Given the description of an element on the screen output the (x, y) to click on. 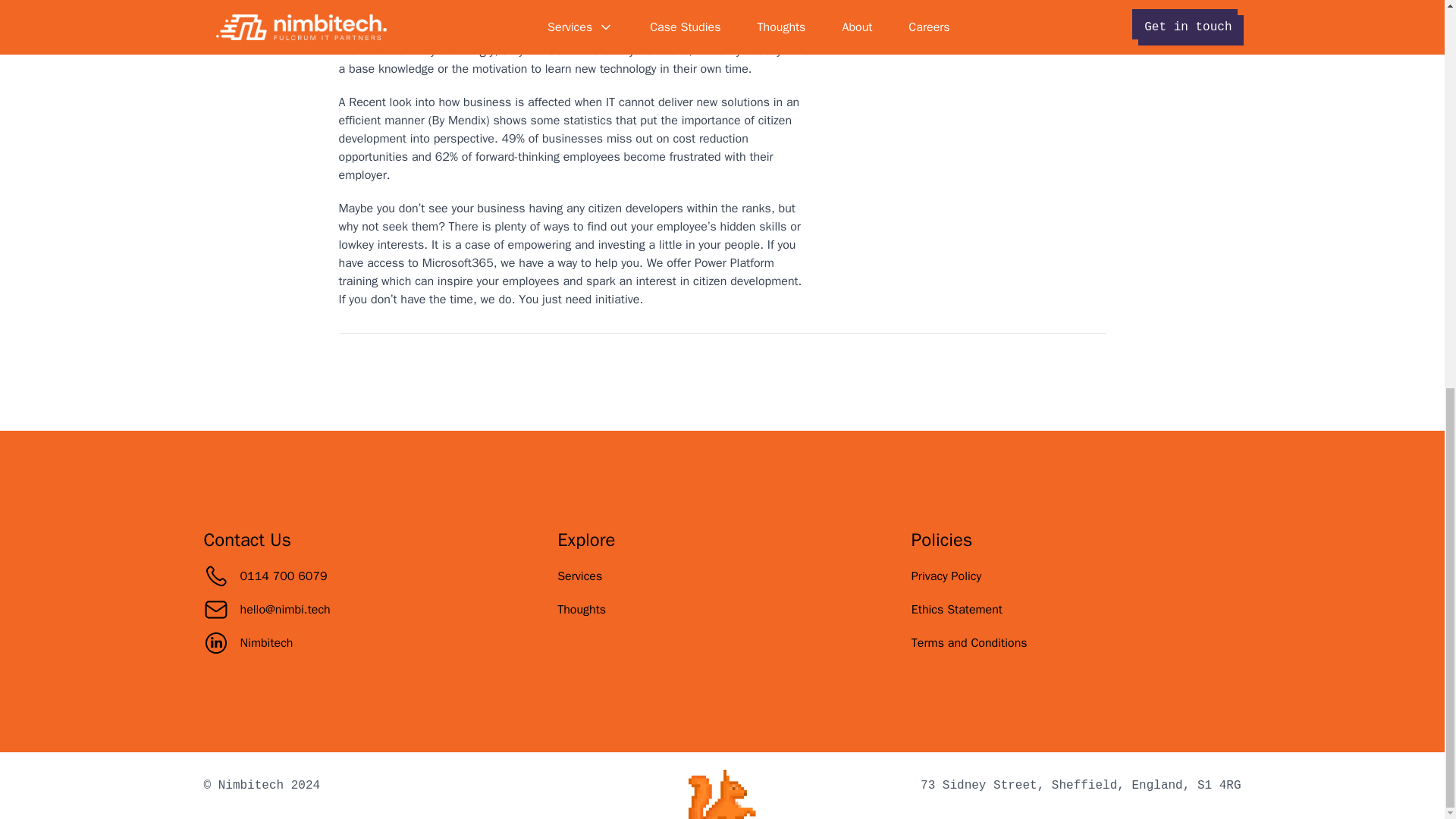
Services (579, 576)
0114 700 6079 (264, 576)
Thoughts (581, 609)
Terms and Conditions (969, 642)
Contact Us (247, 539)
Explore (585, 539)
Policies (941, 539)
Privacy Policy (946, 576)
Nimbitech (247, 642)
Ethics Statement (957, 609)
